Given the description of an element on the screen output the (x, y) to click on. 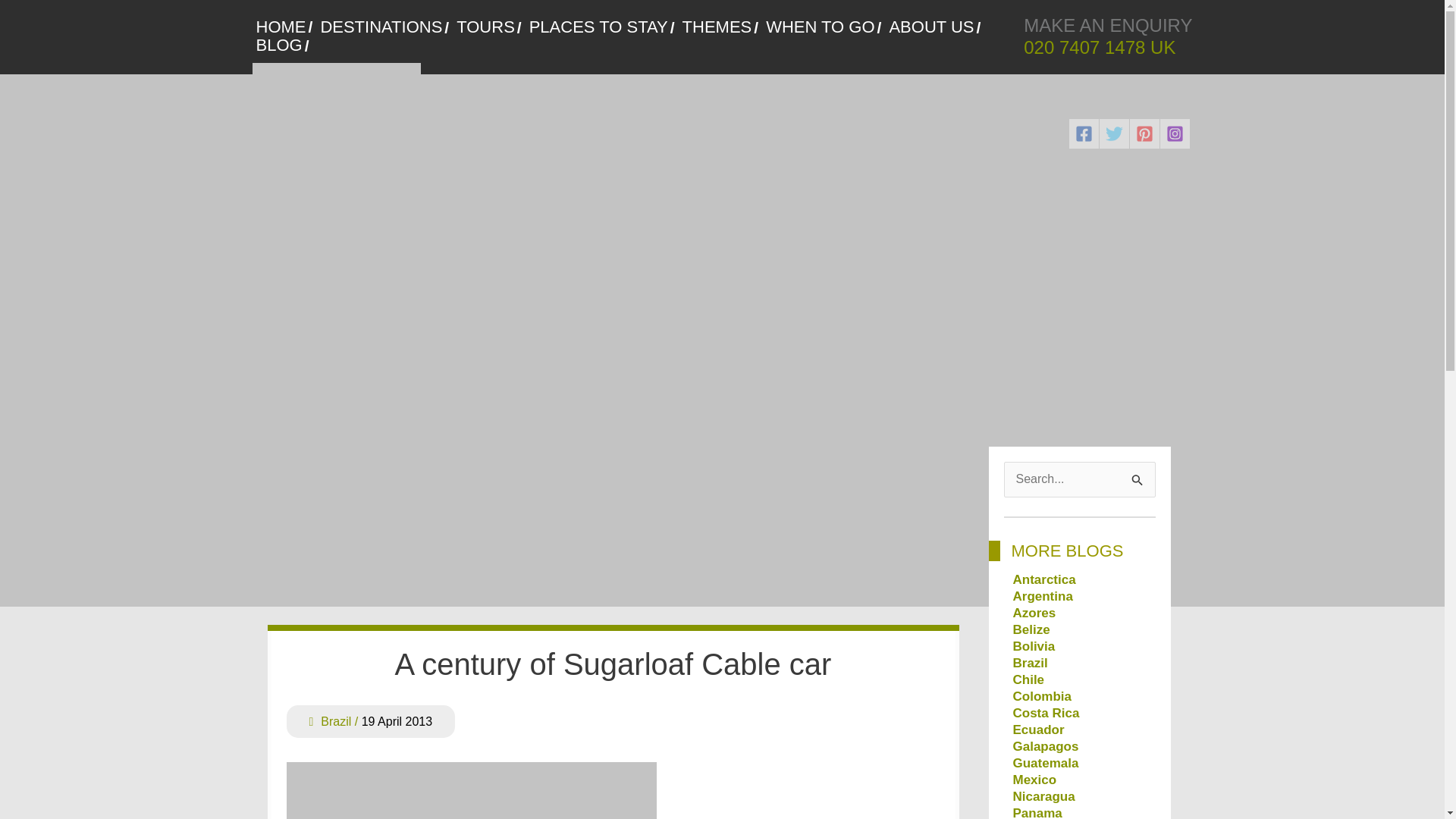
TOURS (488, 27)
DESTINATIONS (383, 27)
HOME (283, 27)
Search (1137, 477)
Search (1137, 477)
